Given the description of an element on the screen output the (x, y) to click on. 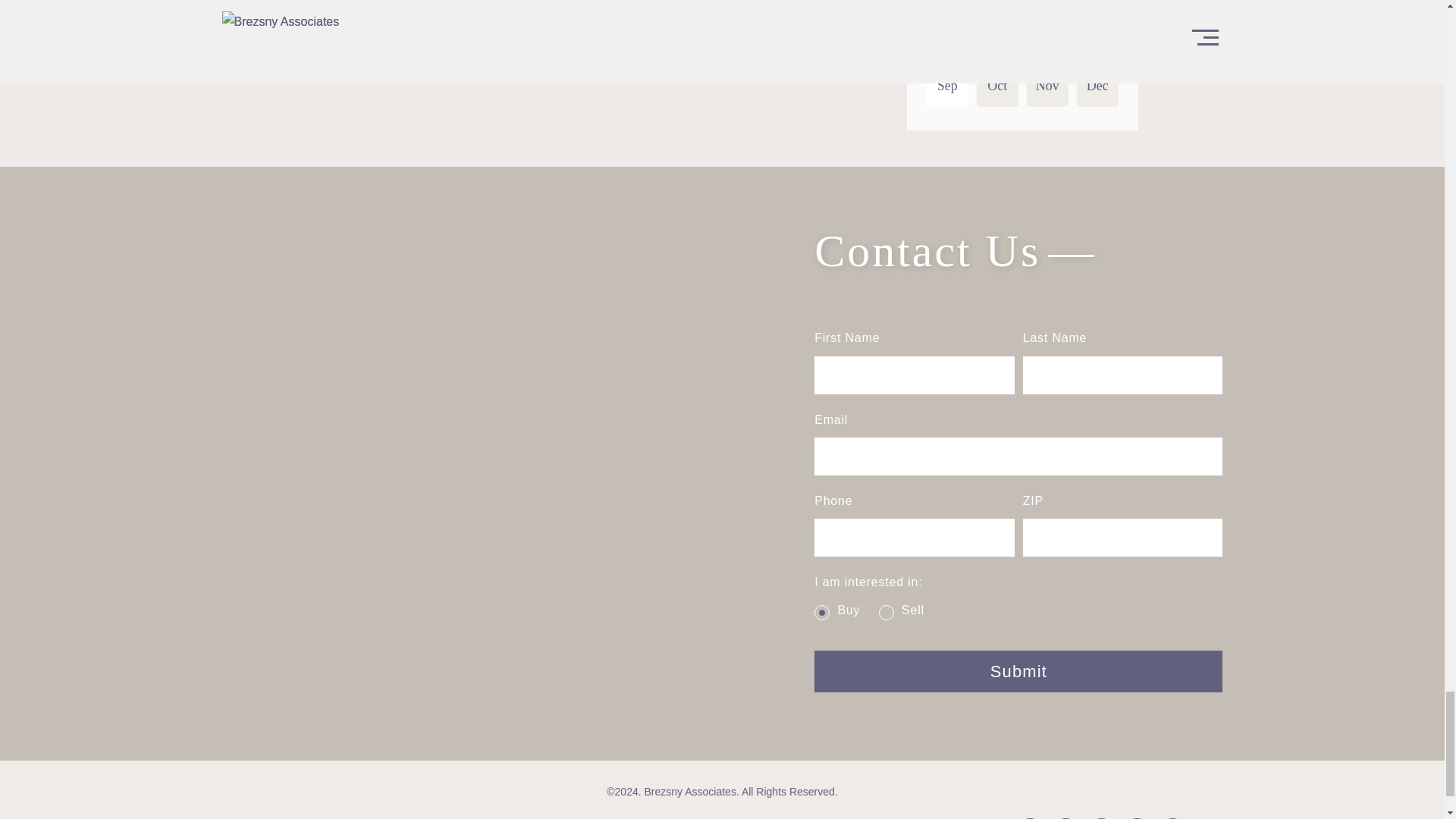
Buy (821, 612)
Sell (886, 612)
